Given the description of an element on the screen output the (x, y) to click on. 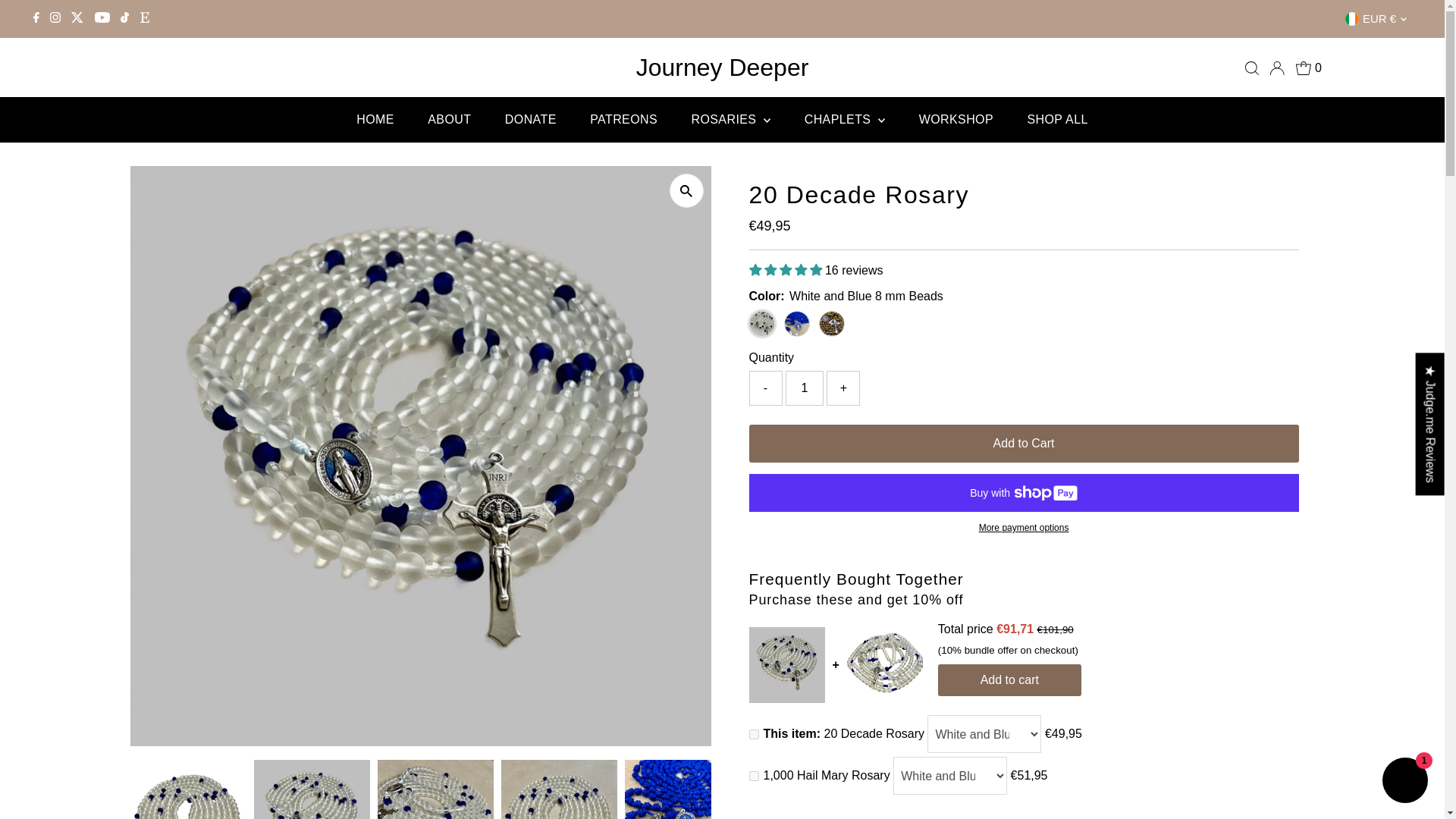
on (753, 734)
on (753, 776)
Skip to content (55, 18)
Add to Cart (1023, 443)
1 (805, 388)
